Given the description of an element on the screen output the (x, y) to click on. 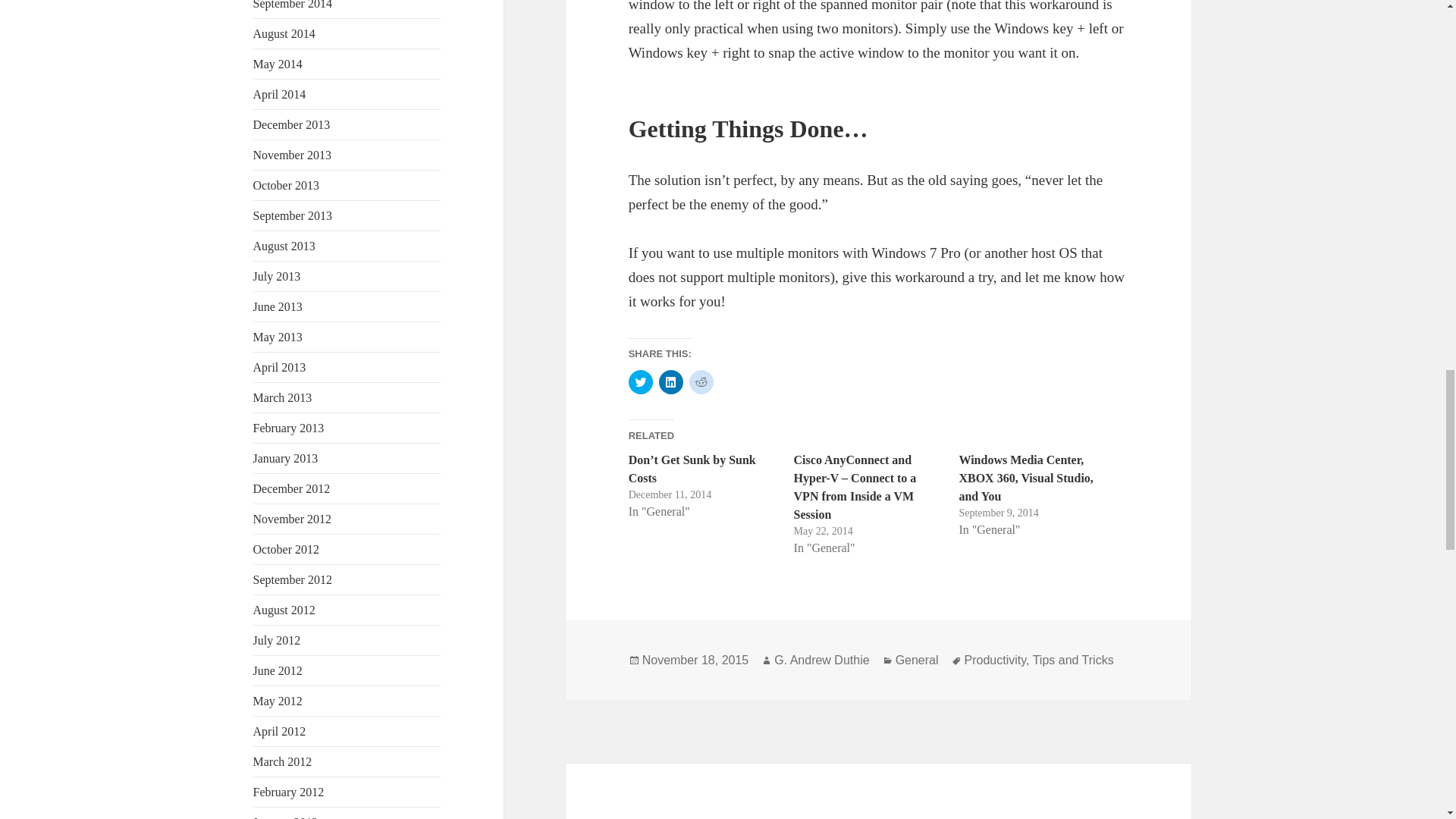
Click to share on Twitter (640, 381)
Windows Media Center, XBOX 360, Visual Studio, and You (1025, 477)
Click to share on LinkedIn (670, 381)
September 2014 (292, 4)
Click to share on Reddit (700, 381)
August 2014 (284, 33)
